Given the description of an element on the screen output the (x, y) to click on. 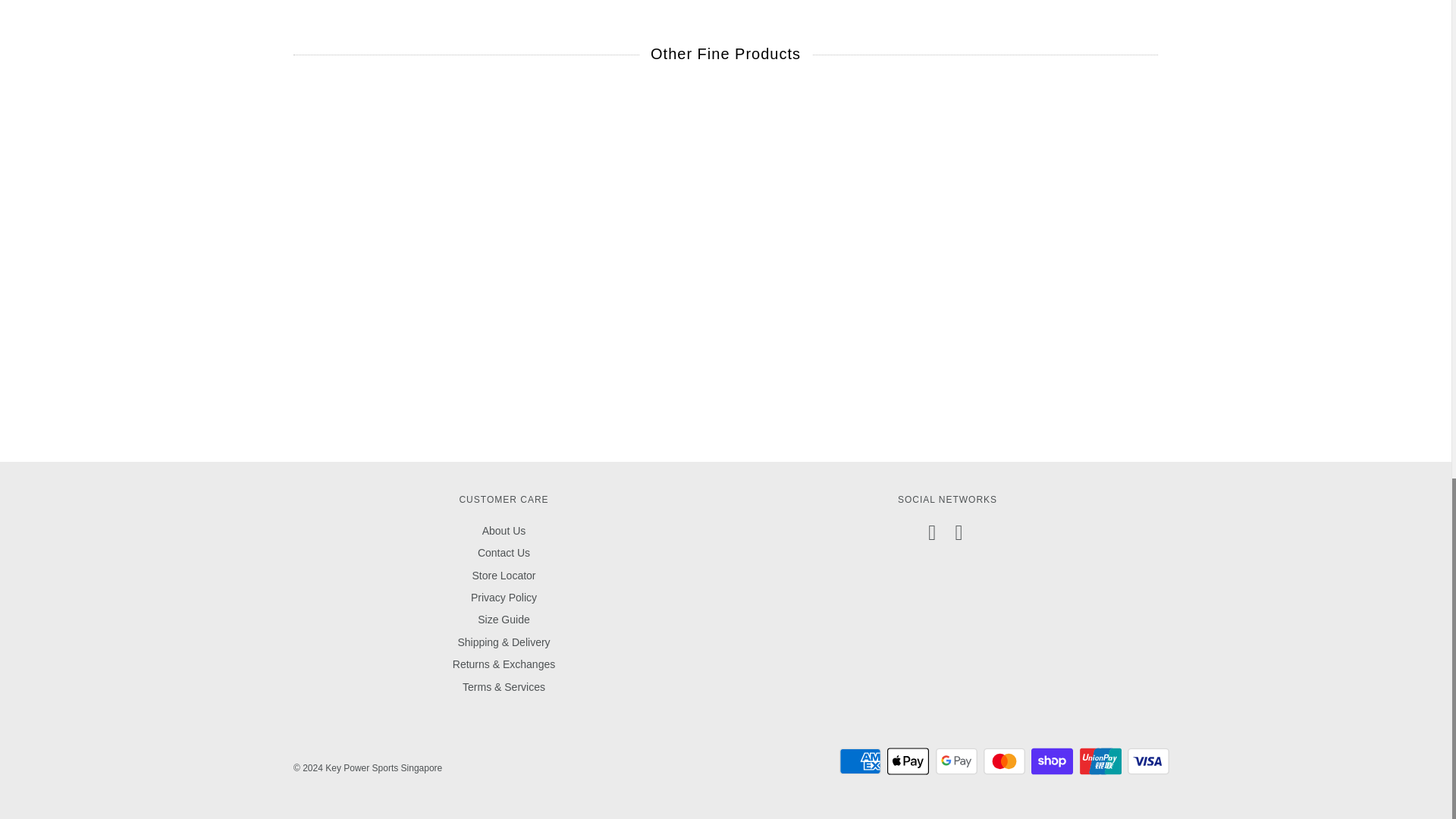
Union Pay (1100, 761)
Mastercard (1004, 761)
Visa (1147, 761)
Apple Pay (907, 761)
American Express (860, 761)
Shop Pay (1051, 761)
Google Pay (956, 761)
